Given the description of an element on the screen output the (x, y) to click on. 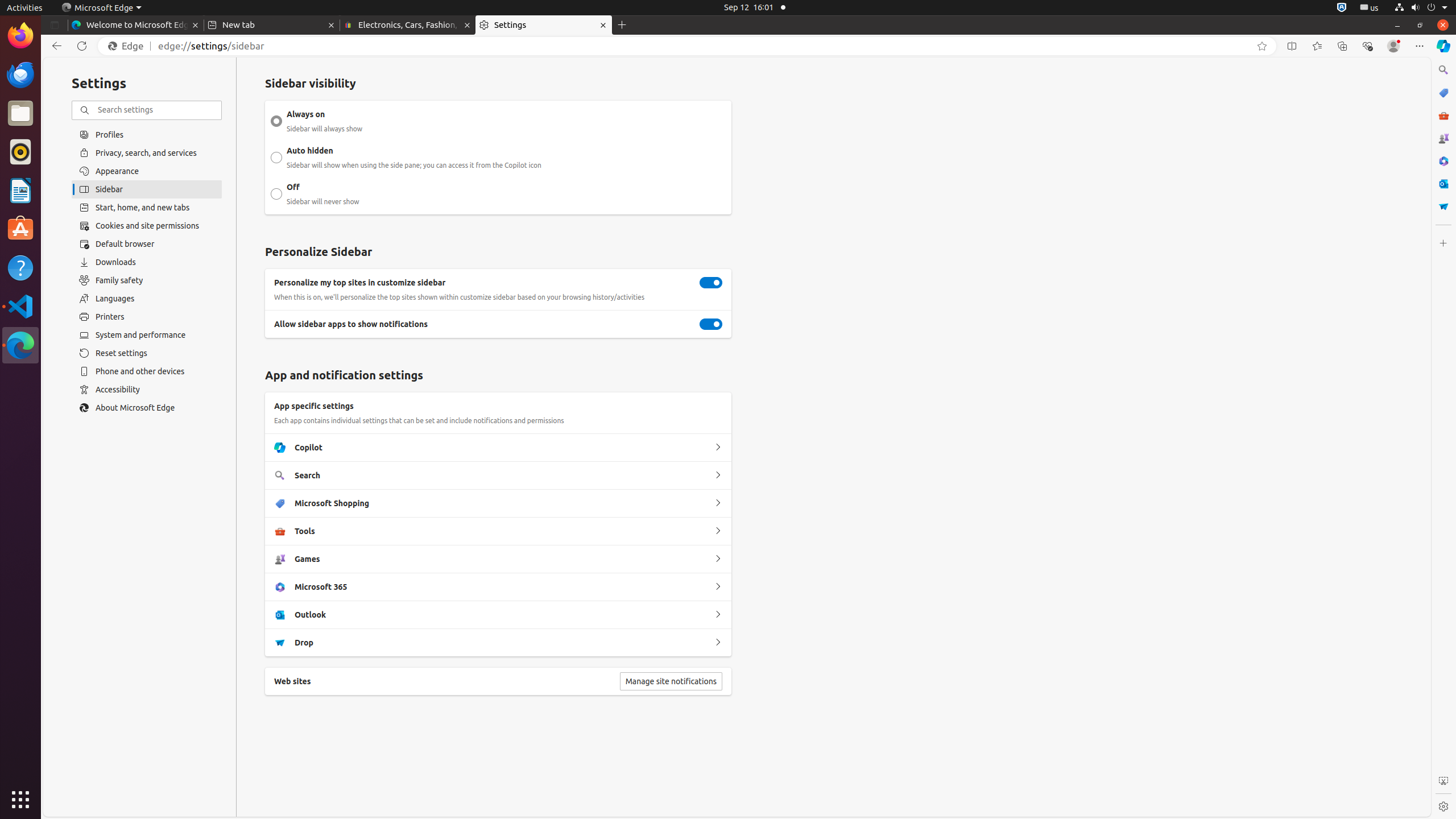
Accessibility Element type: tree-item (146, 389)
Settings and more (Alt+F) Element type: push-button (1419, 45)
Off Sidebar will never show Element type: radio-button (276, 193)
New tab Element type: page-tab (271, 25)
Downloads Element type: tree-item (146, 262)
